Given the description of an element on the screen output the (x, y) to click on. 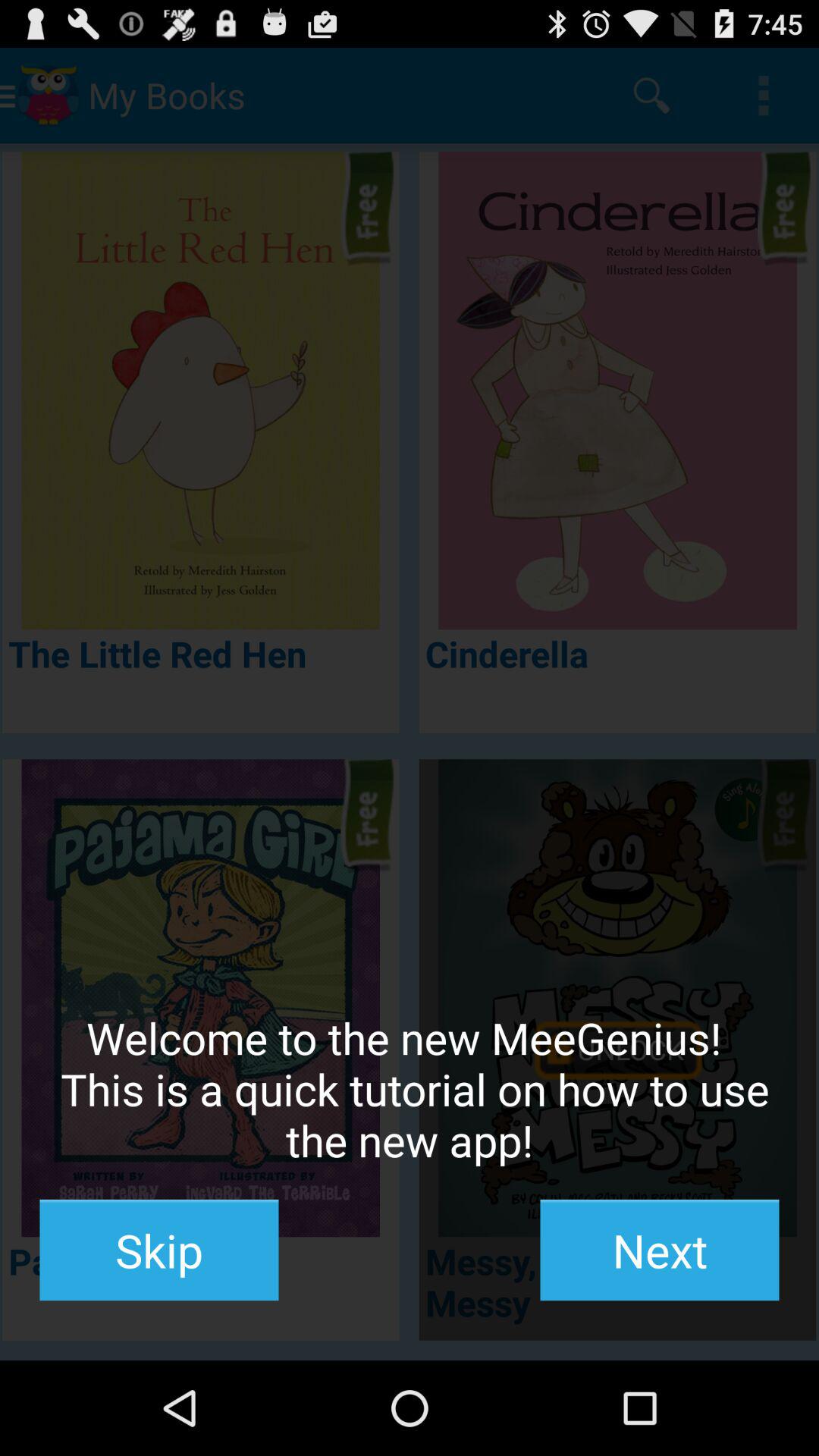
turn on icon at the bottom right corner (659, 1249)
